Given the description of an element on the screen output the (x, y) to click on. 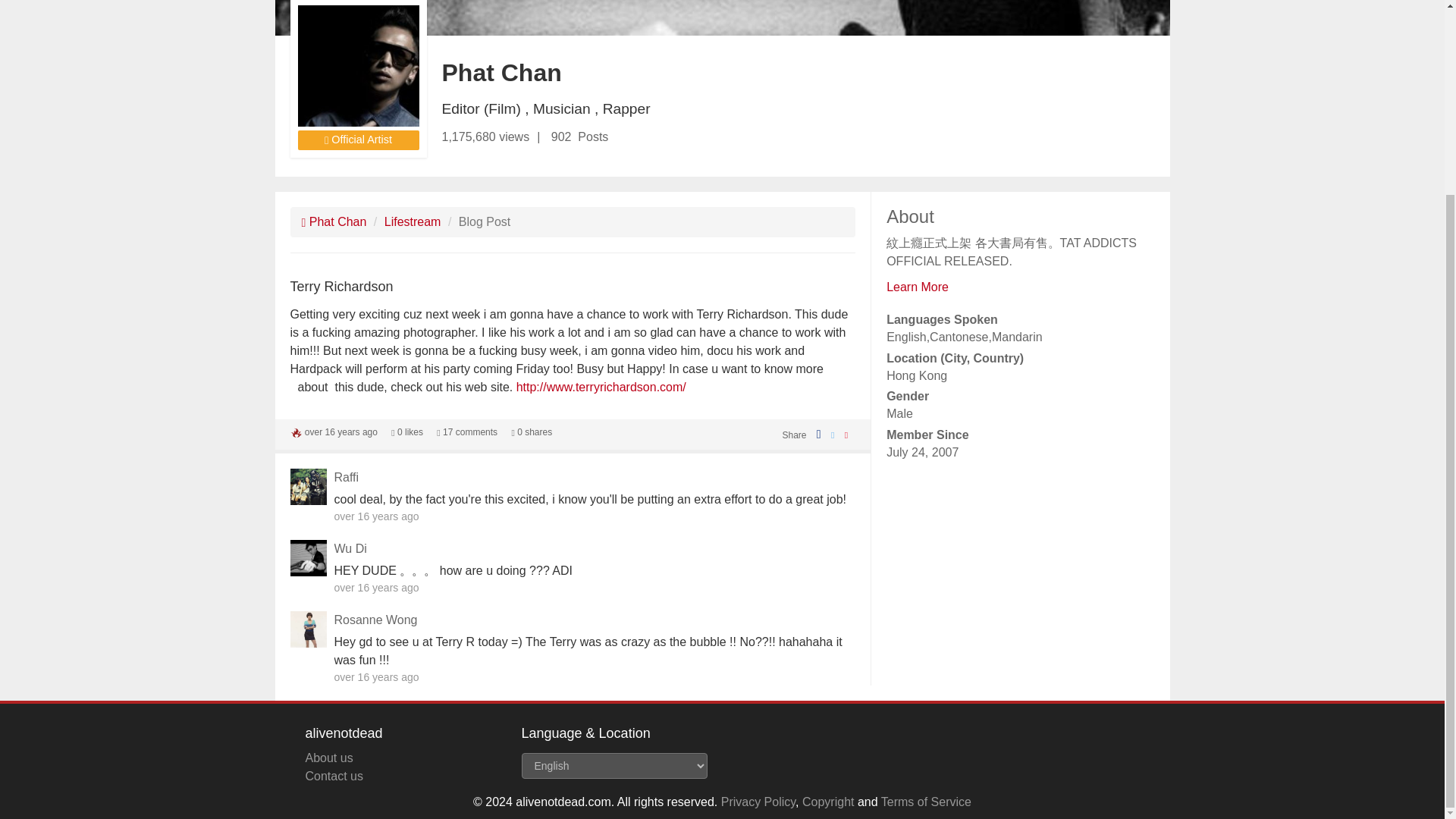
Privacy Policy (757, 801)
Lifestream (412, 221)
Phat Chan (333, 221)
over 16 years ago (340, 431)
Learn More (917, 286)
About us (328, 757)
 17 comments (466, 431)
Contact us (333, 775)
Rosanne Wong (374, 619)
Raffi (345, 477)
Copyright (827, 801)
Wu Di (349, 548)
